Given the description of an element on the screen output the (x, y) to click on. 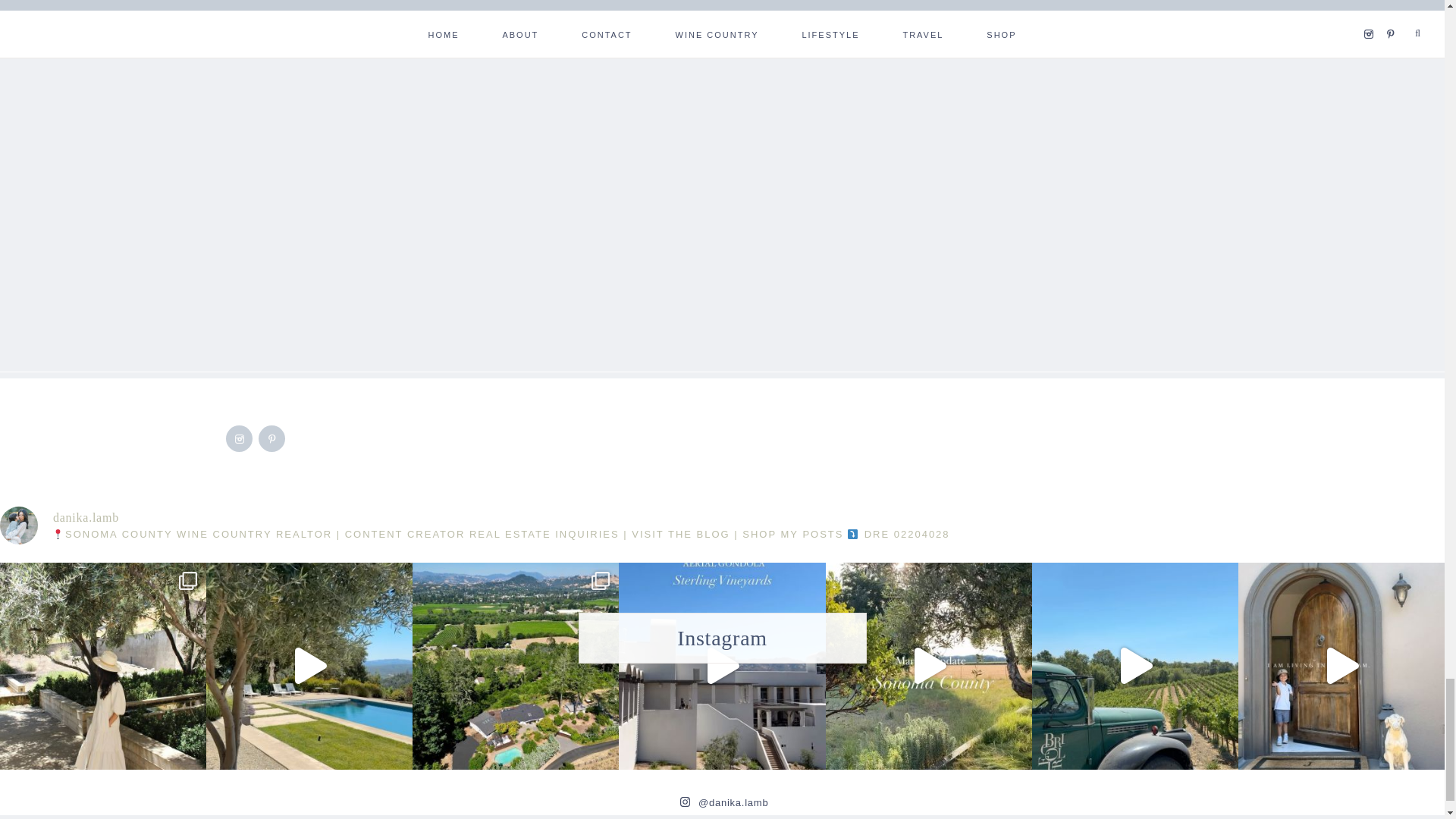
Pinterest (272, 437)
Instagram (239, 437)
